Given the description of an element on the screen output the (x, y) to click on. 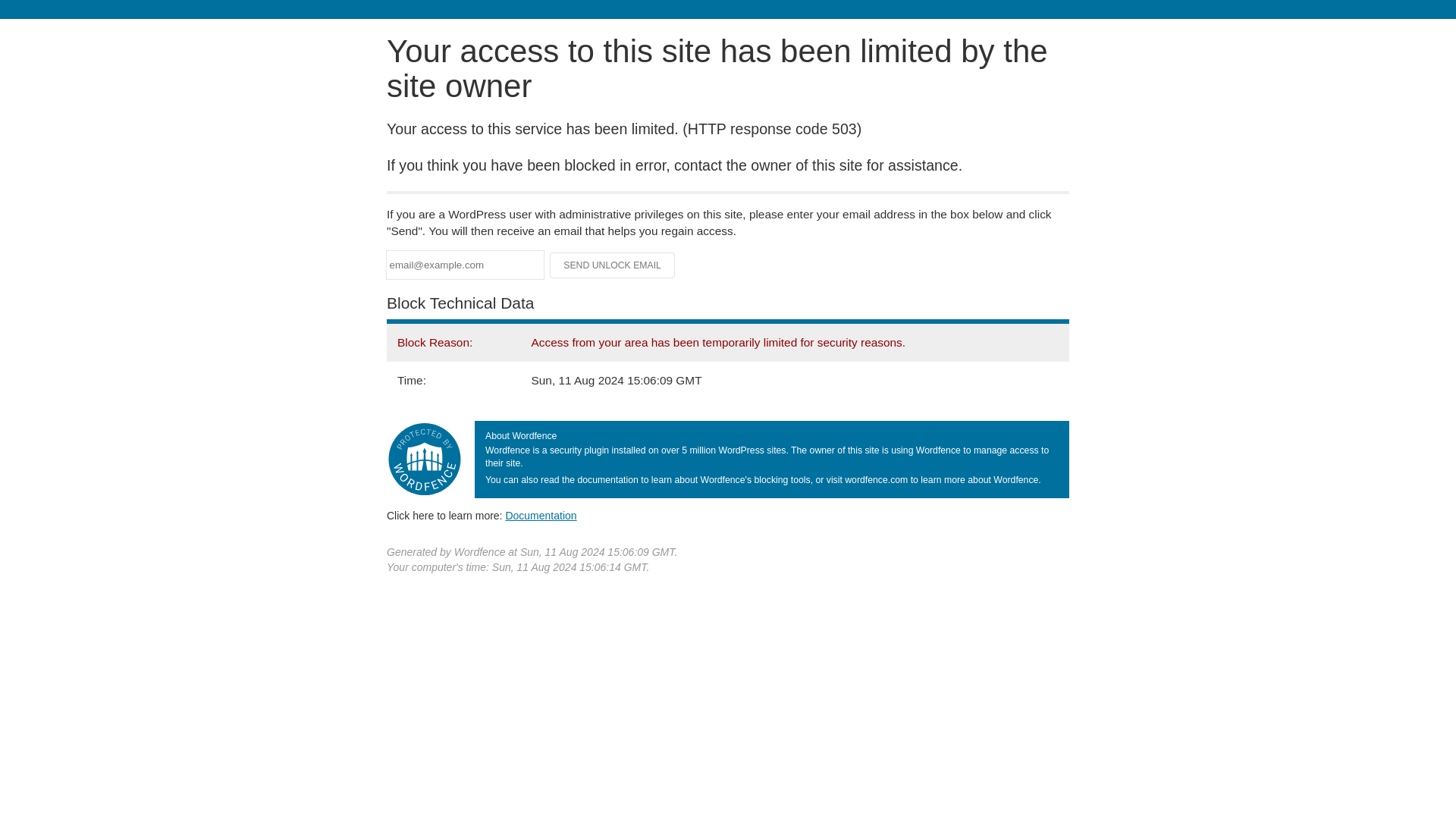
Send Unlock Email (612, 265)
Send Unlock Email (612, 265)
Documentation (540, 515)
